Given the description of an element on the screen output the (x, y) to click on. 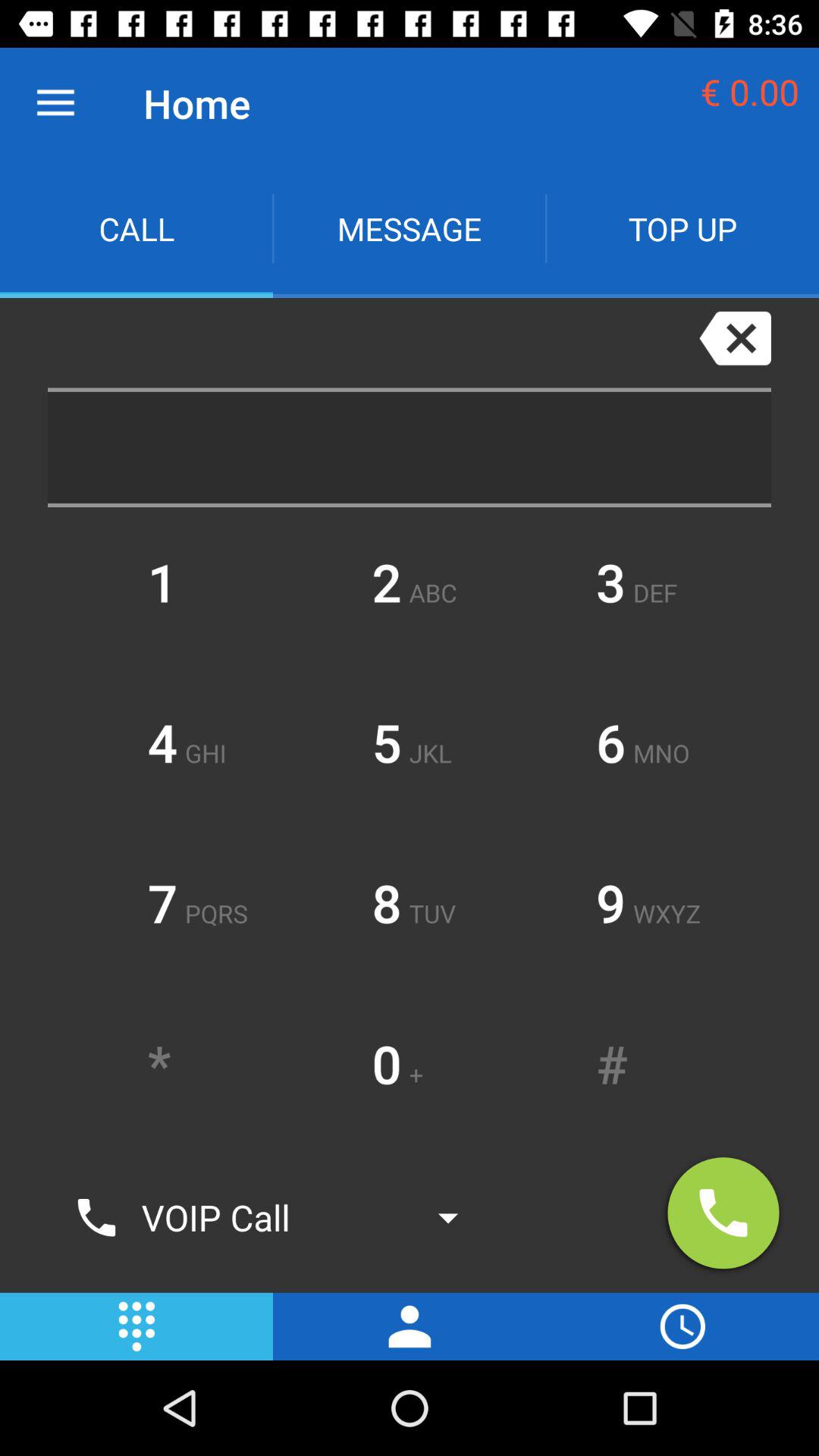
select app to the left of the top up icon (409, 228)
